Given the description of an element on the screen output the (x, y) to click on. 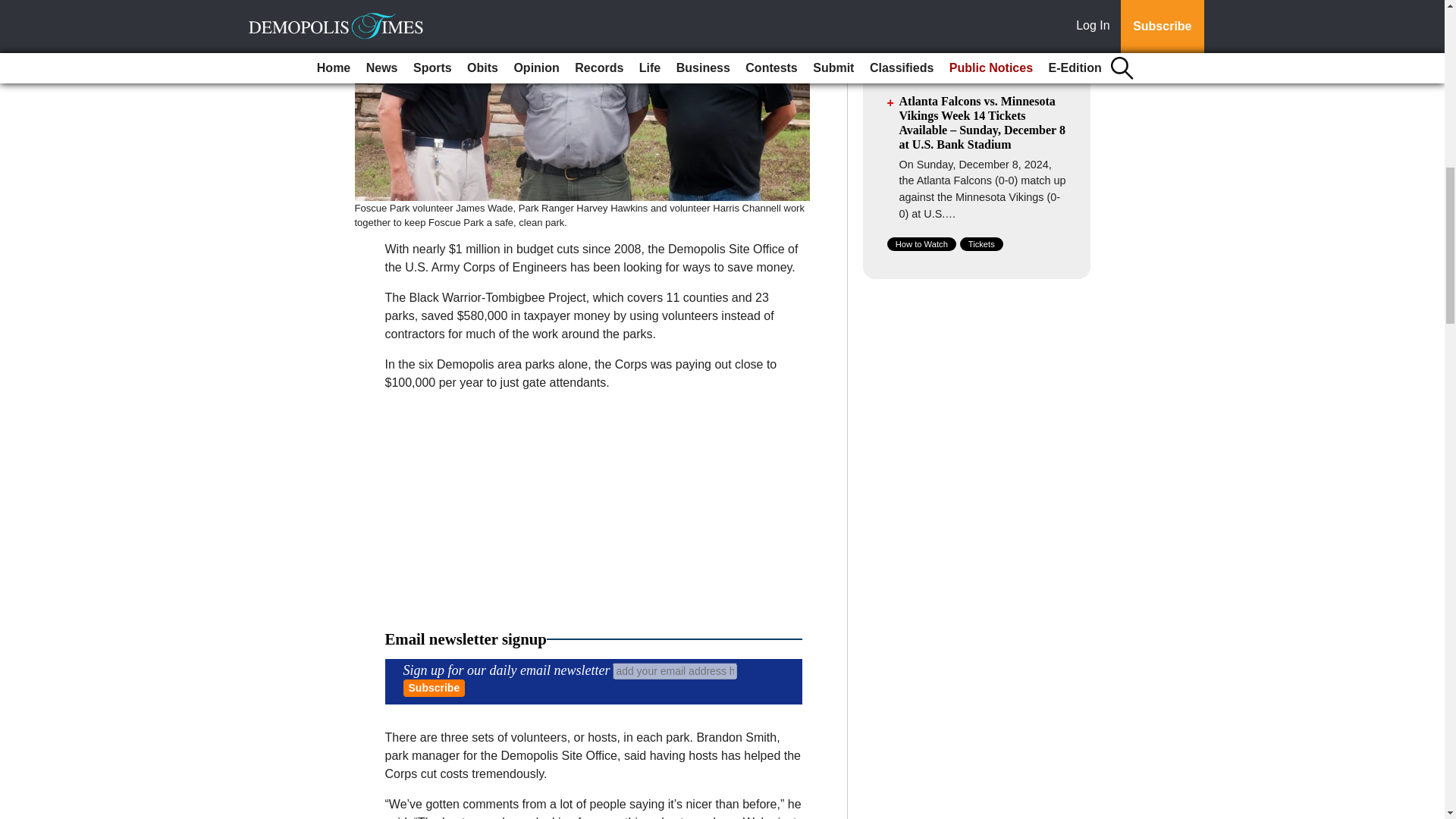
Subscribe (434, 687)
Subscribe (434, 687)
